Given the description of an element on the screen output the (x, y) to click on. 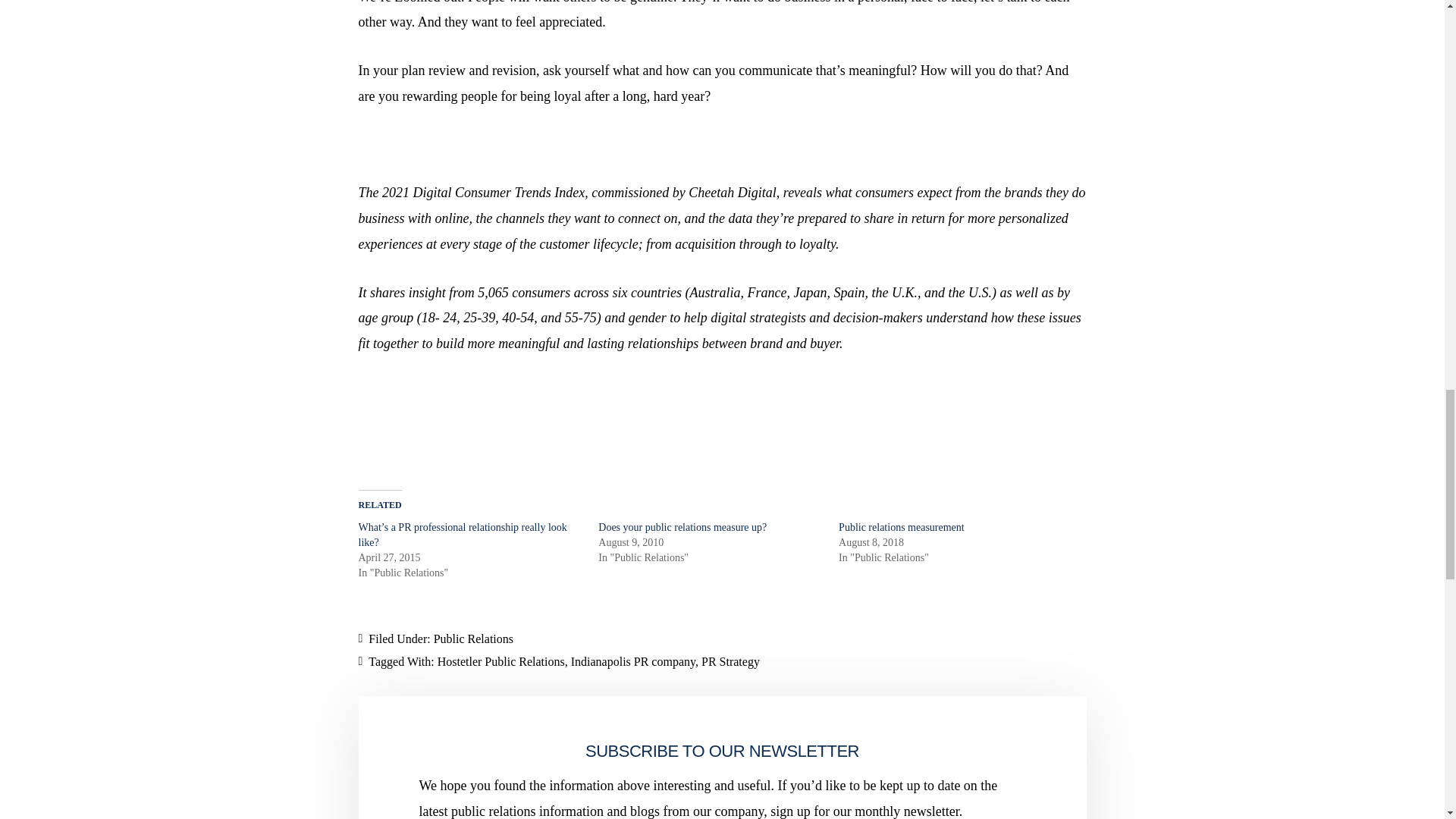
PR Strategy (730, 661)
Public relations measurement (900, 527)
Hostetler Public Relations (501, 661)
Does your public relations measure up? (682, 527)
Indianapolis PR company (632, 661)
Public Relations (473, 638)
Does your public relations measure up? (682, 527)
Public relations measurement (900, 527)
